Given the description of an element on the screen output the (x, y) to click on. 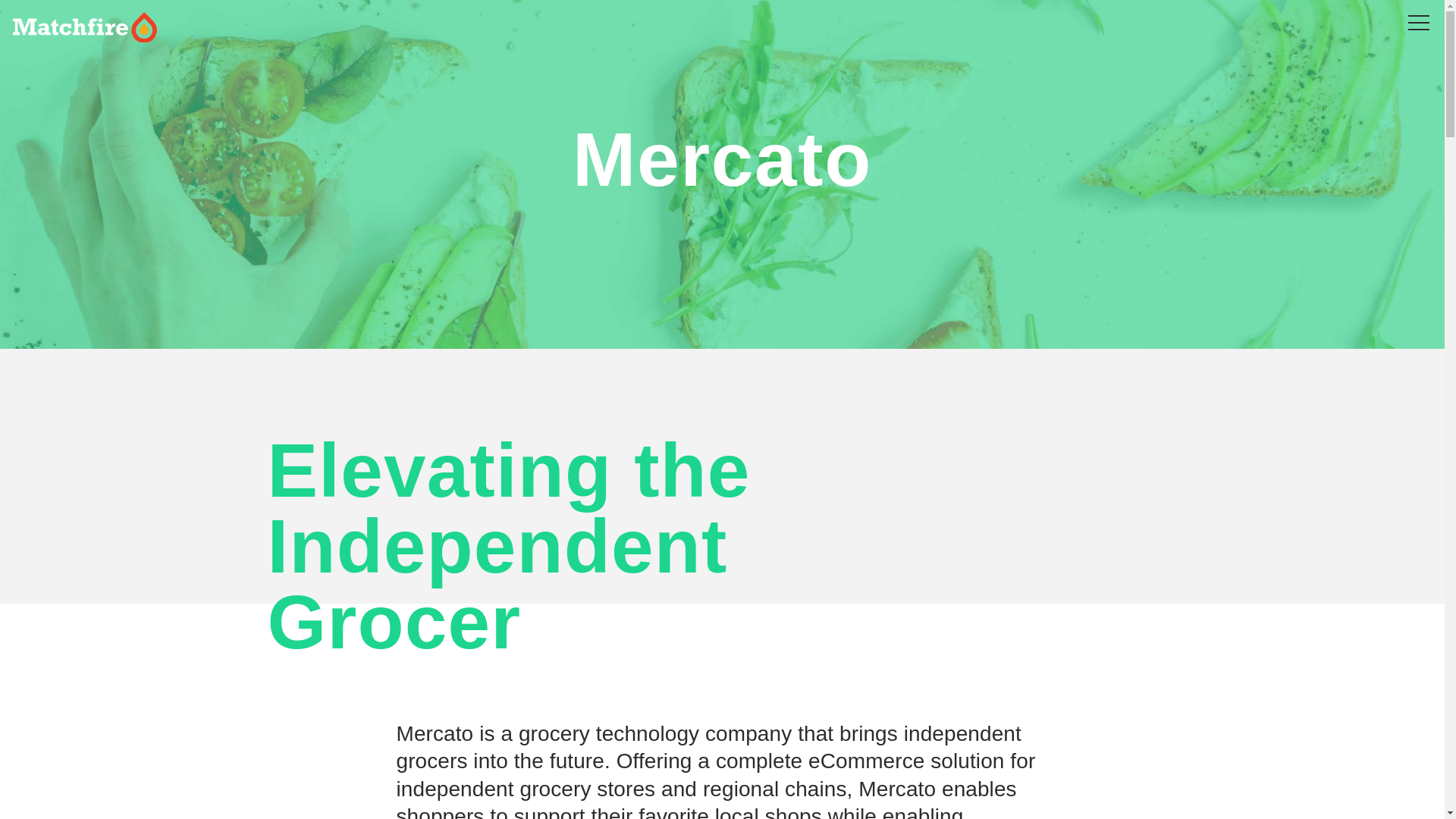
Matchfire (293, 27)
